Given the description of an element on the screen output the (x, y) to click on. 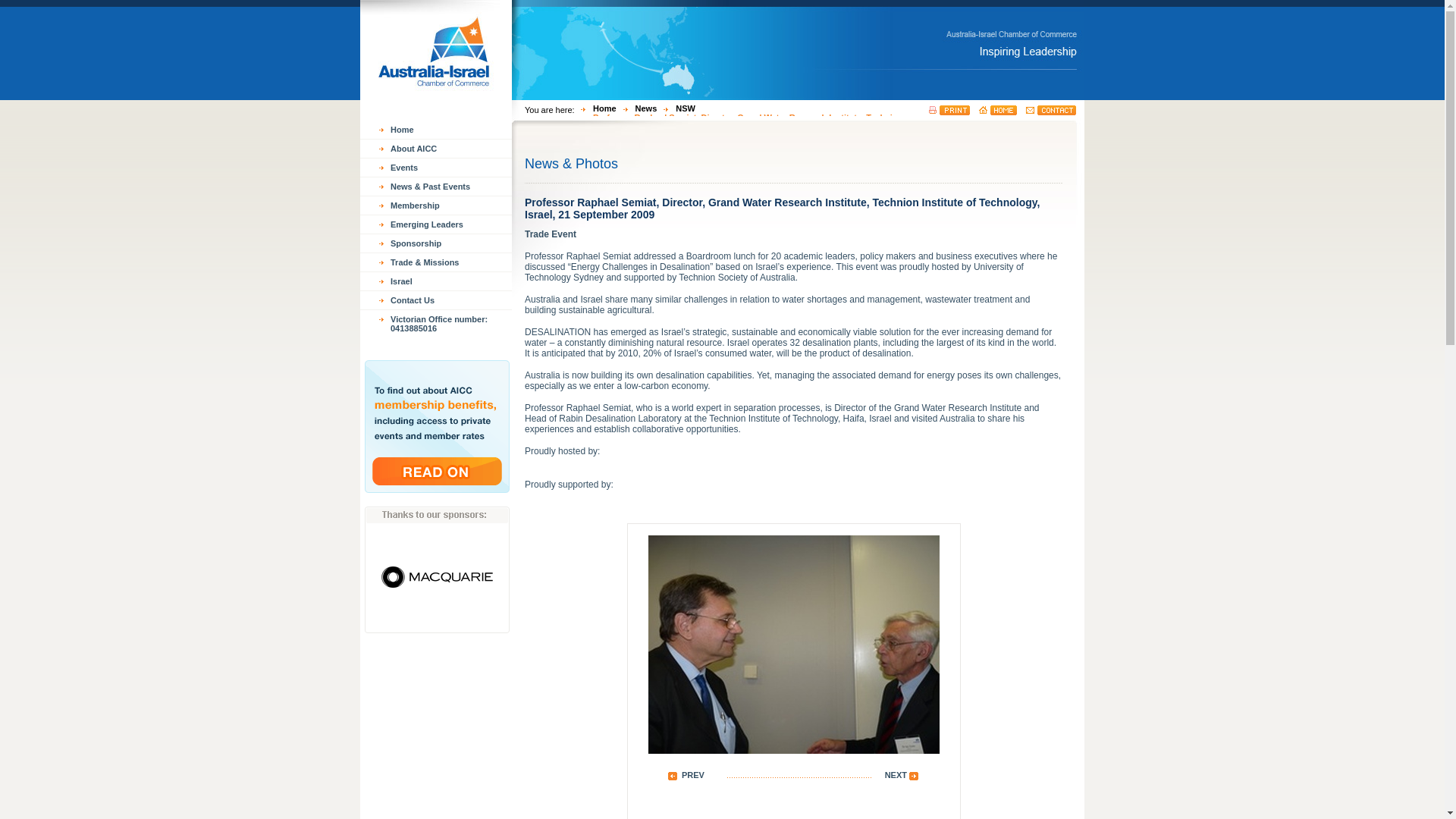
Membership Element type: text (435, 205)
Events Element type: text (435, 167)
News Element type: text (636, 107)
Personal Banking Australia | Bank with Macquarie Element type: hover (436, 573)
Home Element type: text (435, 129)
Contact Us Element type: text (435, 300)
Emerging Leaders Element type: text (435, 224)
NEXT Element type: text (904, 778)
News & Past Events Element type: text (435, 186)
Victorian Office number: 0413885016 Element type: text (435, 323)
Israel Element type: text (435, 281)
NSW Element type: text (675, 107)
Trade & Missions Element type: text (435, 262)
About AICC Element type: text (435, 148)
Sponsorship Element type: text (435, 243)
Home Element type: text (595, 107)
PREV Element type: text (686, 778)
